Given the description of an element on the screen output the (x, y) to click on. 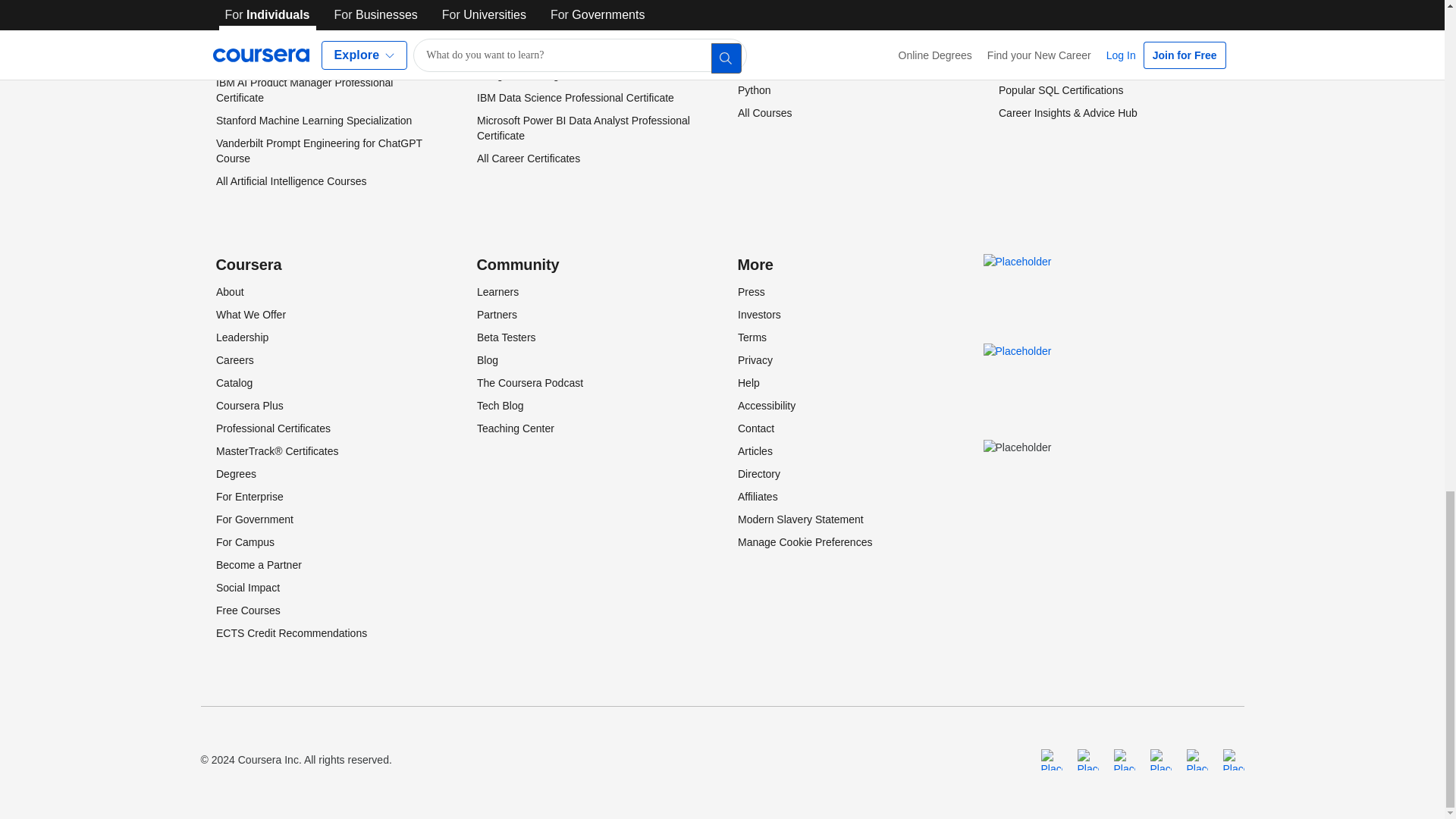
Vanderbilt Prompt Engineering for ChatGPT Course (318, 150)
Stanford Machine Learning Specialization (312, 120)
Google AI Essentials (264, 21)
Google Cloud Introduction to Generative AI Course (316, 52)
IBM AI Product Manager Professional Certificate (303, 90)
All Artificial Intelligence Courses (290, 181)
DLAI GenAI with LLMs Course (287, 2)
